Given the description of an element on the screen output the (x, y) to click on. 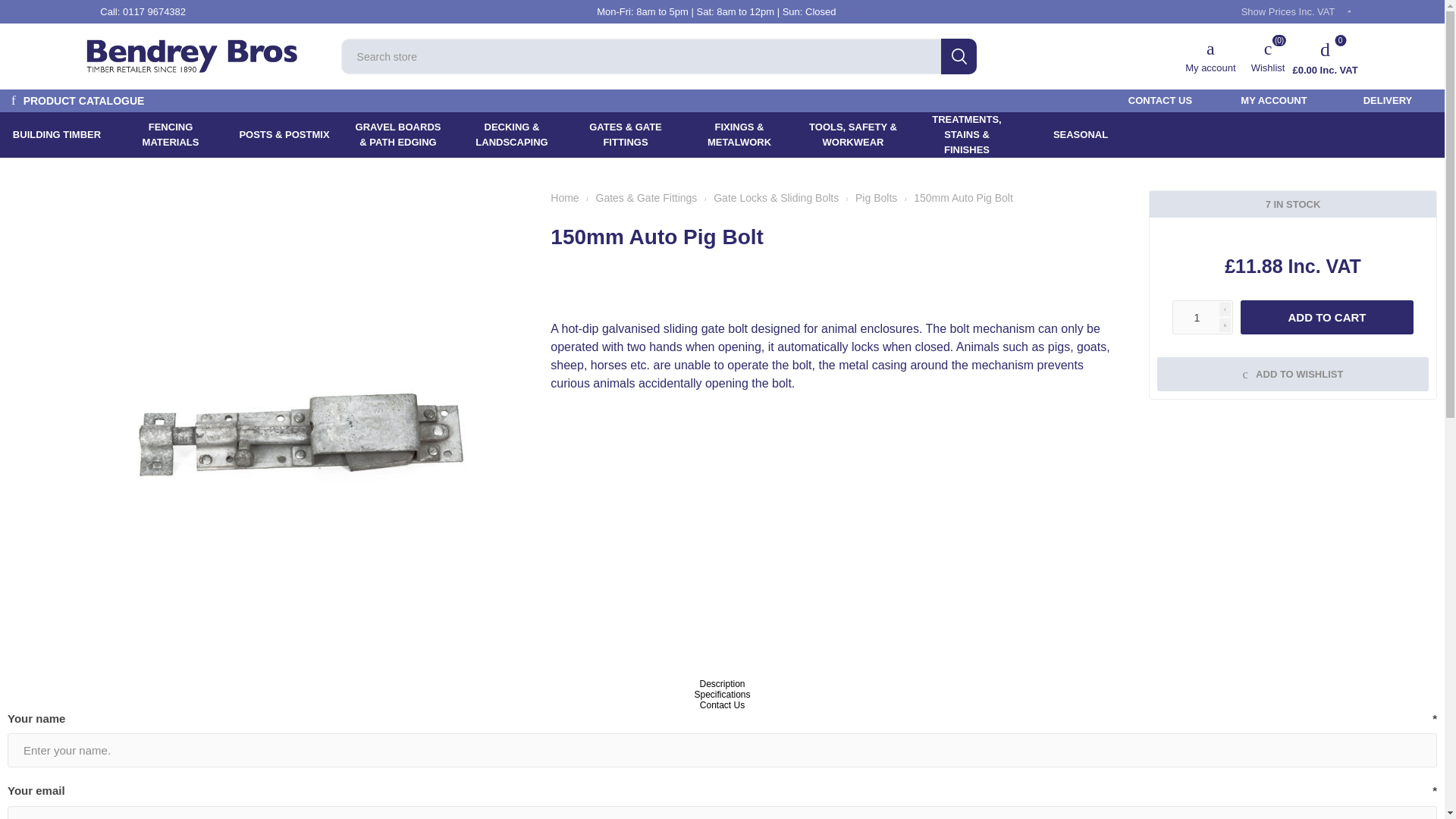
0117 9674382 (154, 11)
My account (1209, 55)
Search (958, 56)
Add to cart (1326, 317)
Bendrey Brothers (191, 55)
Search (958, 56)
Search (958, 56)
1 (1202, 317)
